Given the description of an element on the screen output the (x, y) to click on. 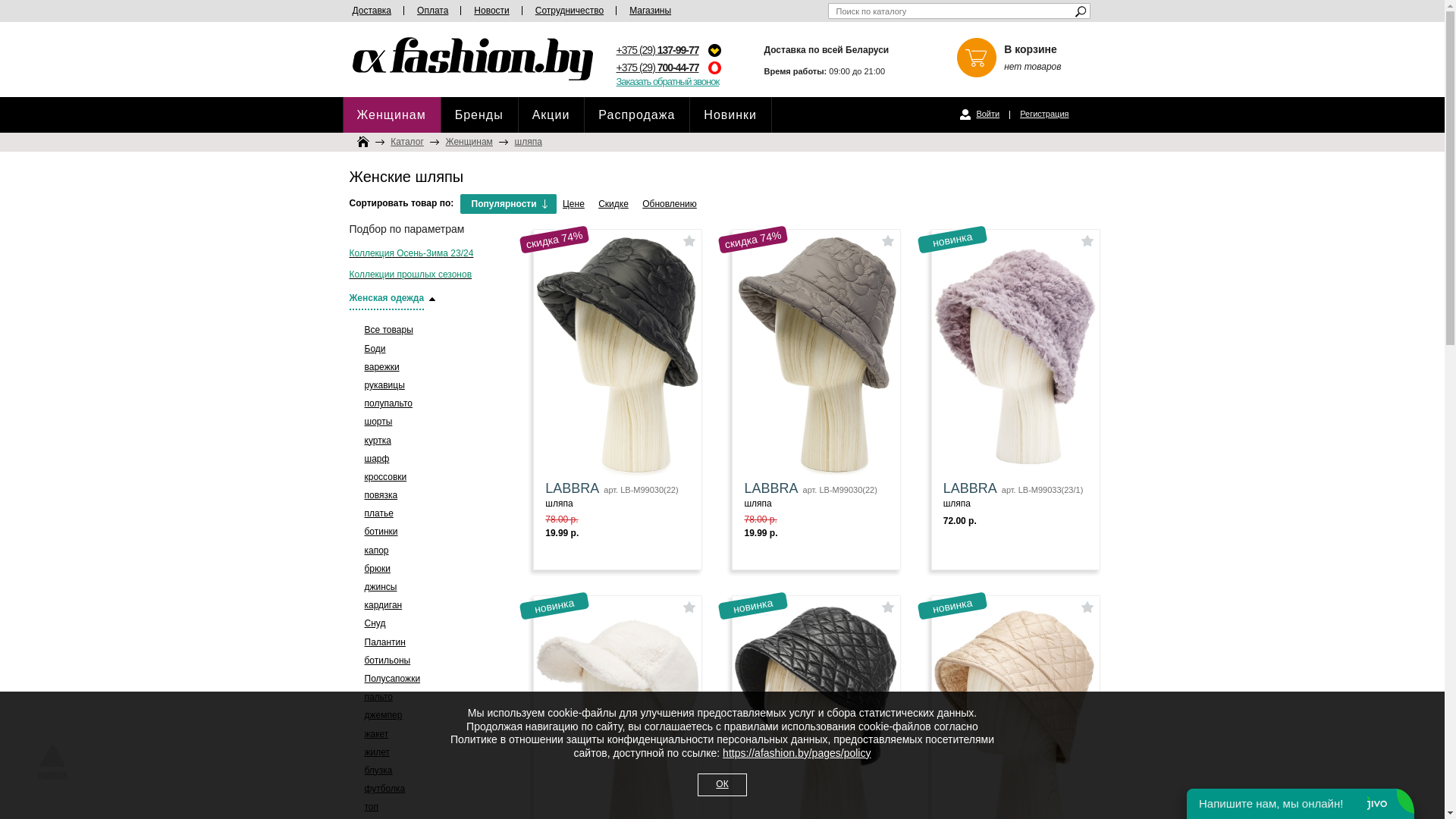
+375 (29) 700-44-77 Element type: text (656, 67)
https://afashion.by/pages/policy Element type: text (796, 752)
+375 (29) 137-99-77 Element type: text (656, 49)
